Given the description of an element on the screen output the (x, y) to click on. 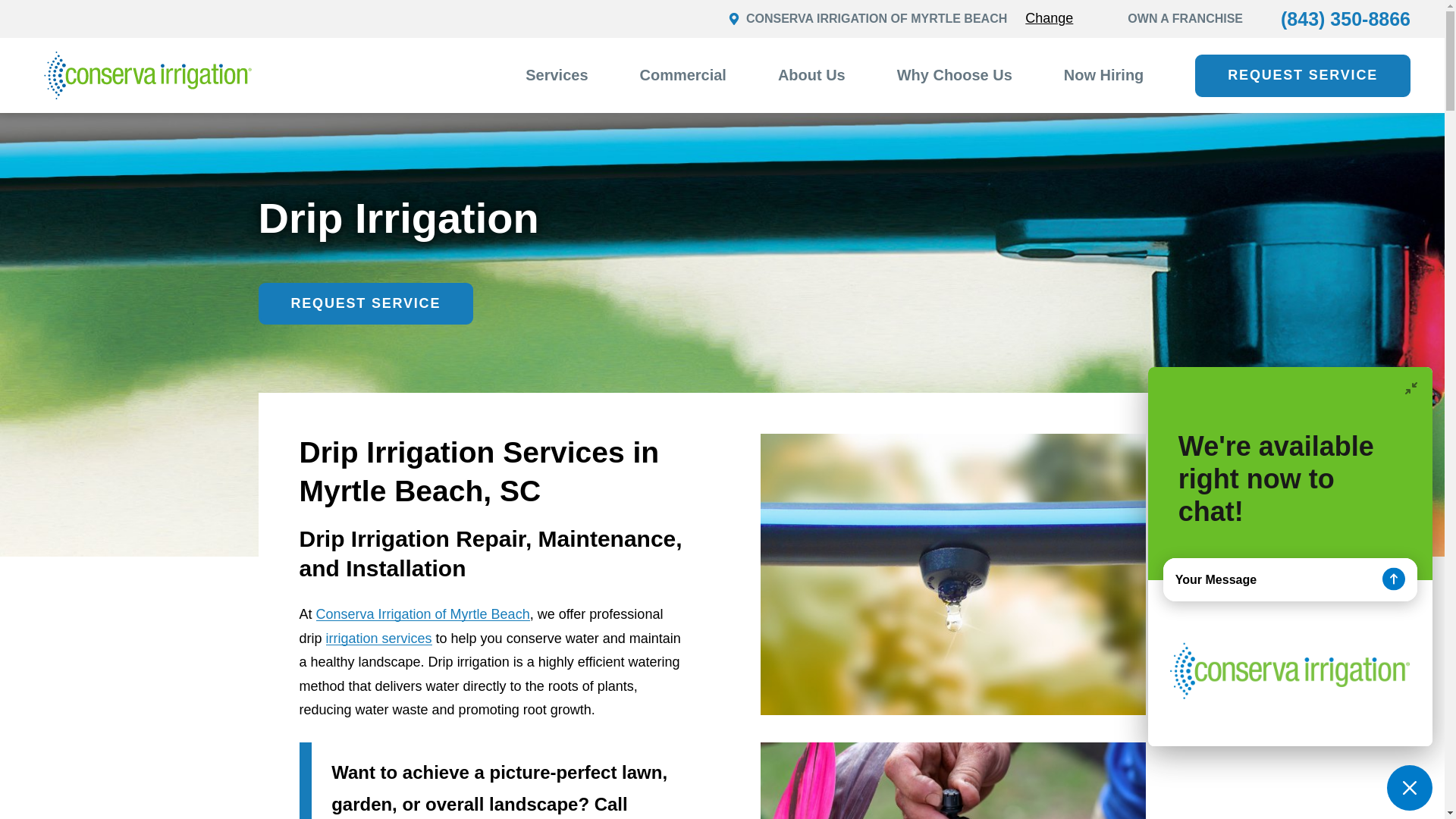
About Us (811, 75)
OWN A FRANCHISE (1184, 18)
Why Choose Us (953, 75)
Services (556, 75)
Conserva Irrigation (147, 75)
Commercial (683, 75)
Change (1049, 18)
